Given the description of an element on the screen output the (x, y) to click on. 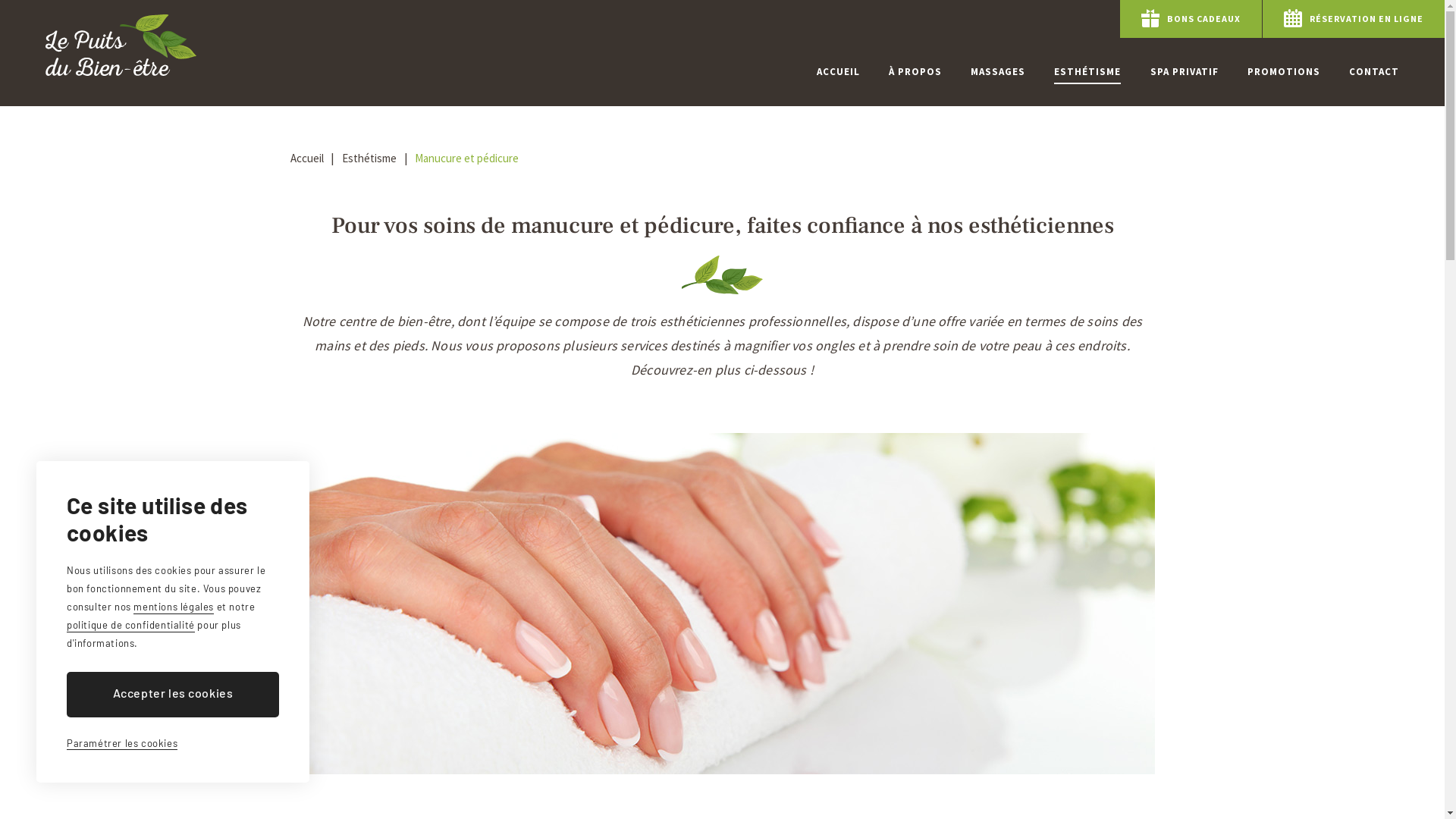
MASSAGES Element type: text (997, 71)
CONTACT Element type: text (1374, 71)
BONS CADEAUX Element type: text (1190, 18)
ACCUEIL Element type: text (837, 71)
Accueil Element type: text (306, 158)
PROMOTIONS Element type: text (1283, 71)
SPA PRIVATIF Element type: text (1184, 71)
